Given the description of an element on the screen output the (x, y) to click on. 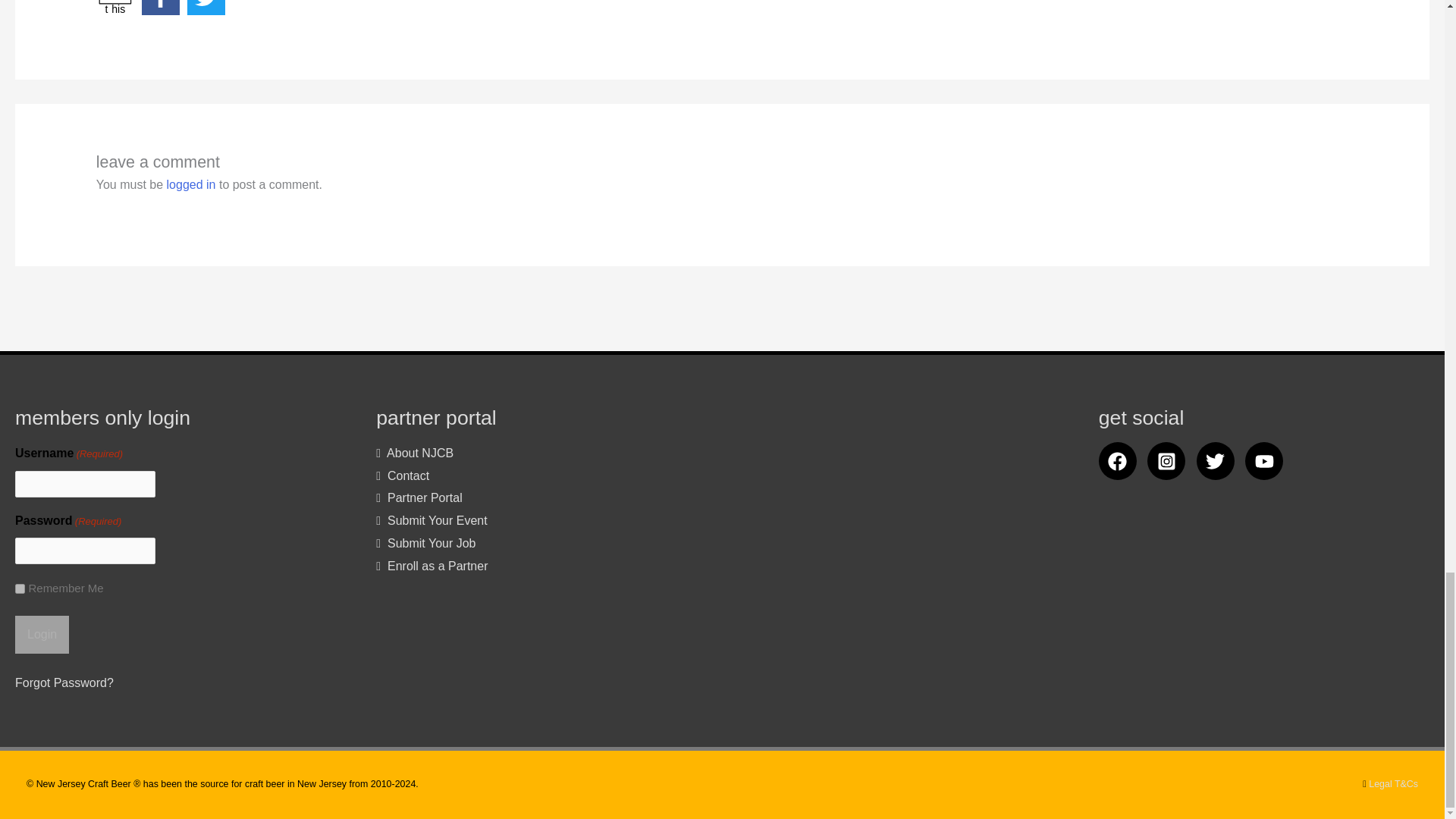
Login (114, 7)
1 (41, 633)
